Given the description of an element on the screen output the (x, y) to click on. 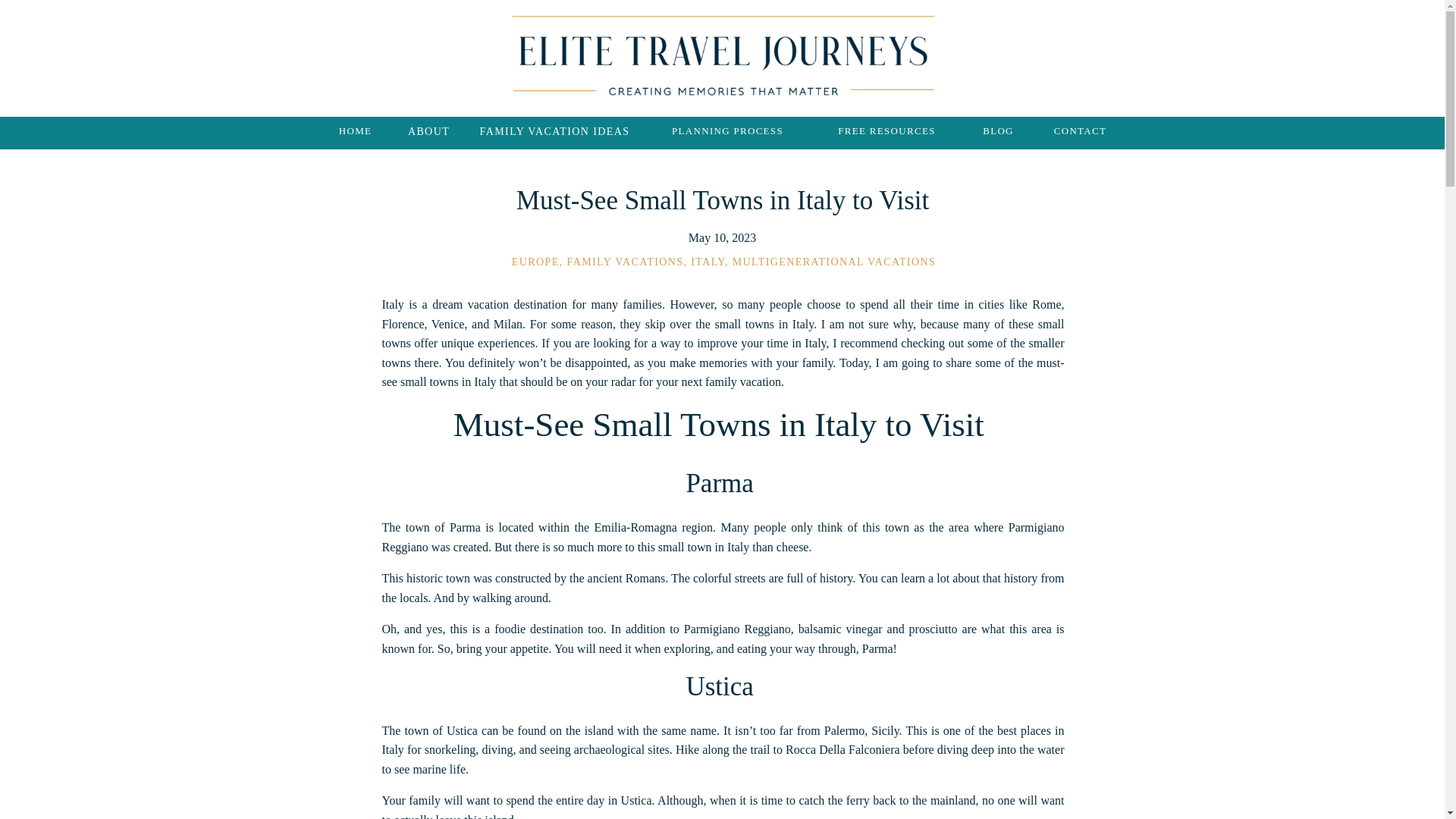
FAMILY VACATION IDEAS (554, 133)
PLANNING PROCESS (727, 133)
ITALY (707, 261)
ABOUT (428, 133)
HOME (354, 133)
FAMILY VACATIONS (625, 261)
MULTIGENERATIONAL VACATIONS (834, 261)
FREE RESOURCES (886, 133)
EUROPE (535, 261)
BLOG (998, 133)
